Given the description of an element on the screen output the (x, y) to click on. 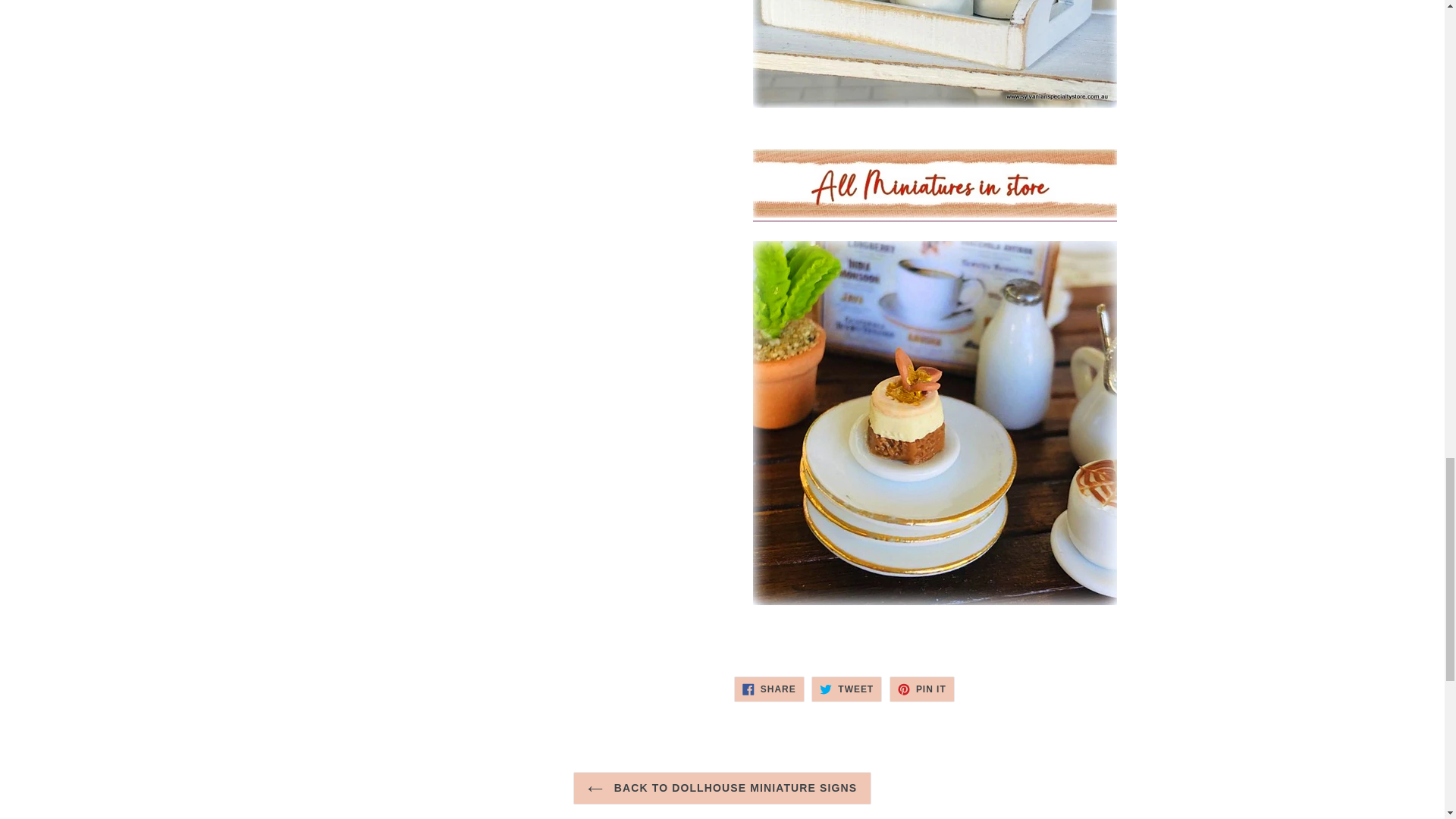
Share on Facebook (769, 688)
Pin on Pinterest (922, 688)
Tweet on Twitter (846, 688)
